Given the description of an element on the screen output the (x, y) to click on. 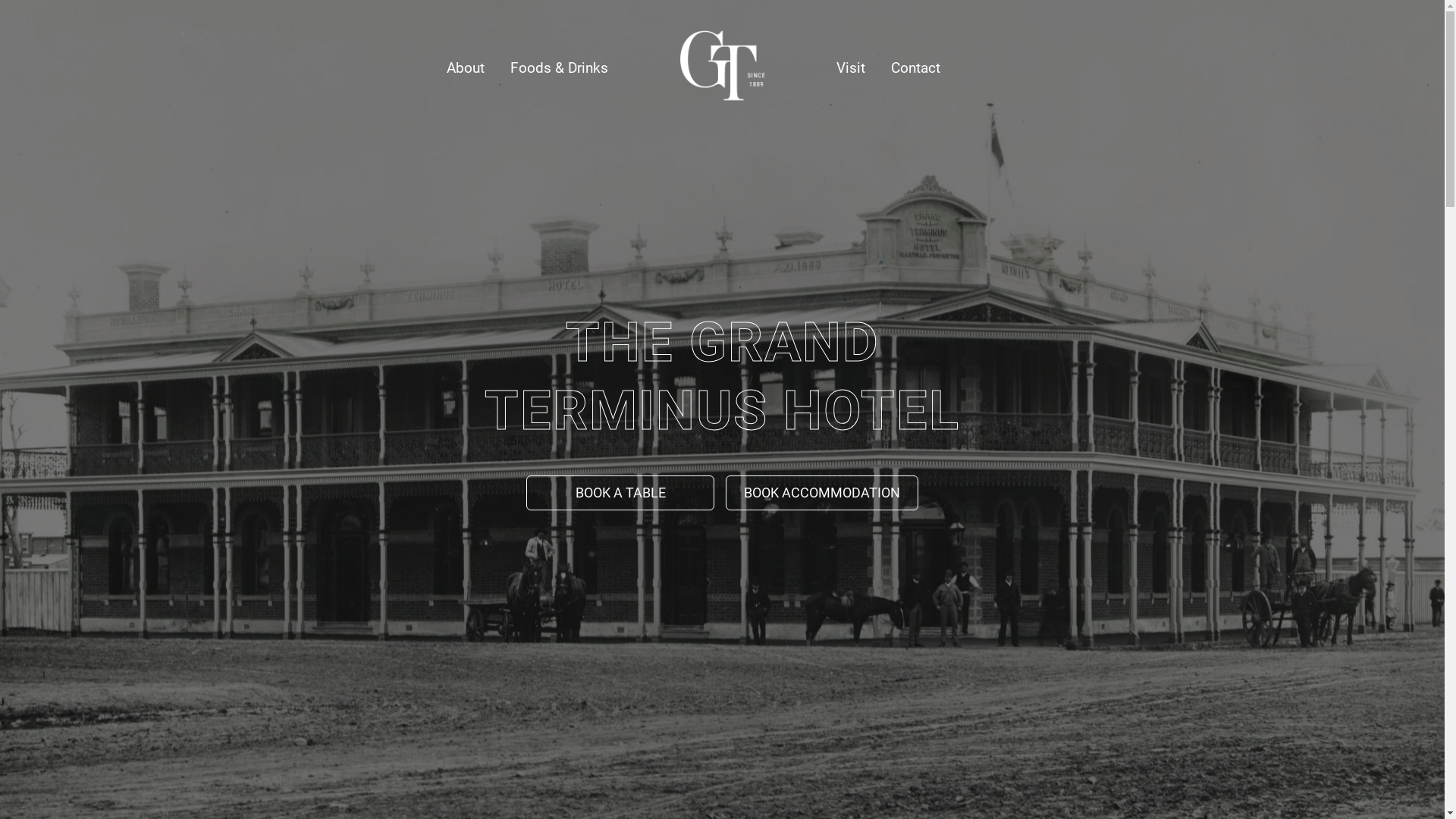
Foods & Drinks Element type: text (559, 68)
Contact Element type: text (915, 68)
BOOK A TABLE Element type: text (620, 492)
BOOK ACCOMMODATION Element type: text (821, 492)
About Element type: text (465, 68)
Visit Element type: text (850, 68)
